Given the description of an element on the screen output the (x, y) to click on. 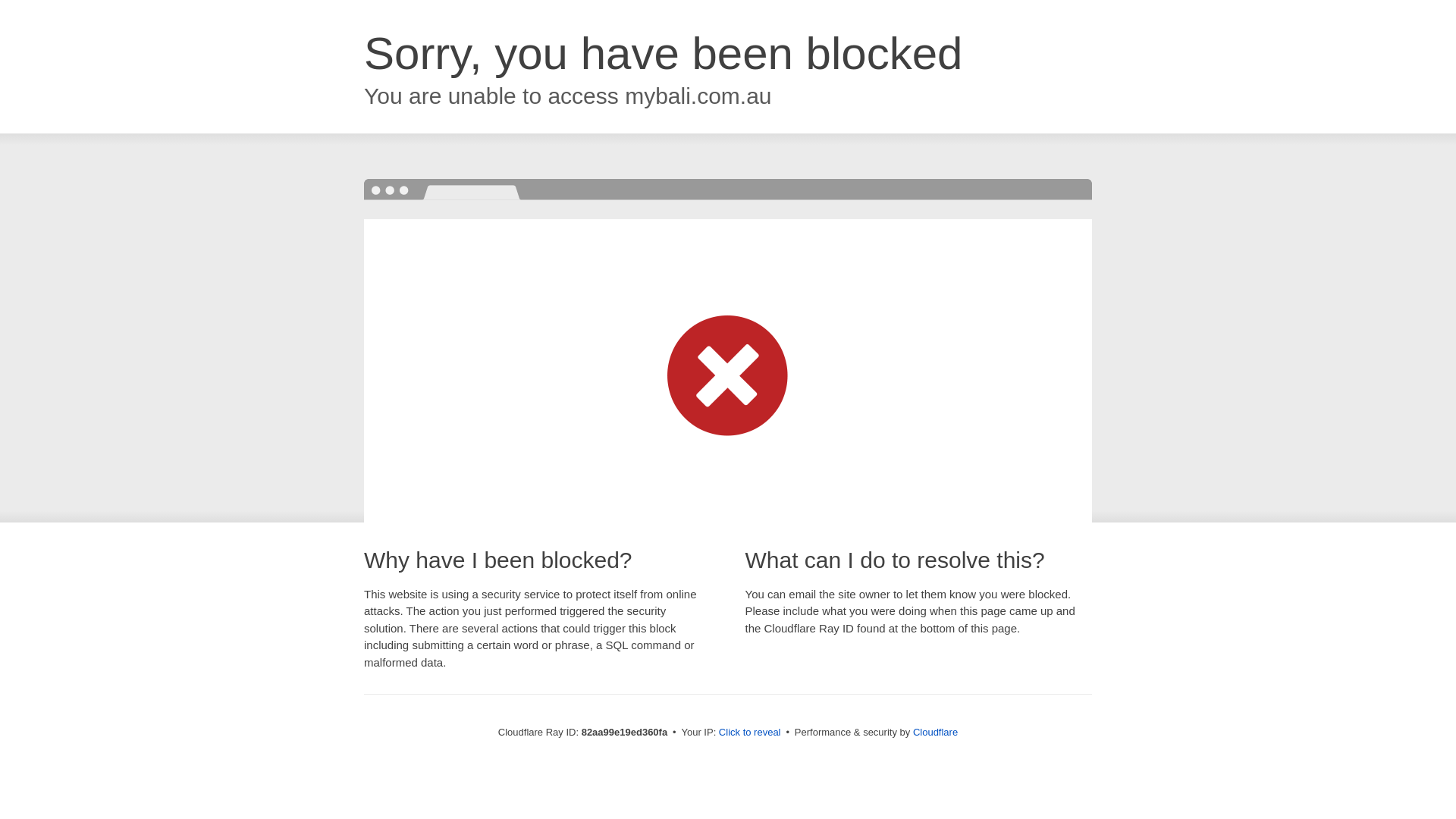
Click to reveal Element type: text (749, 732)
Cloudflare Element type: text (935, 731)
